Given the description of an element on the screen output the (x, y) to click on. 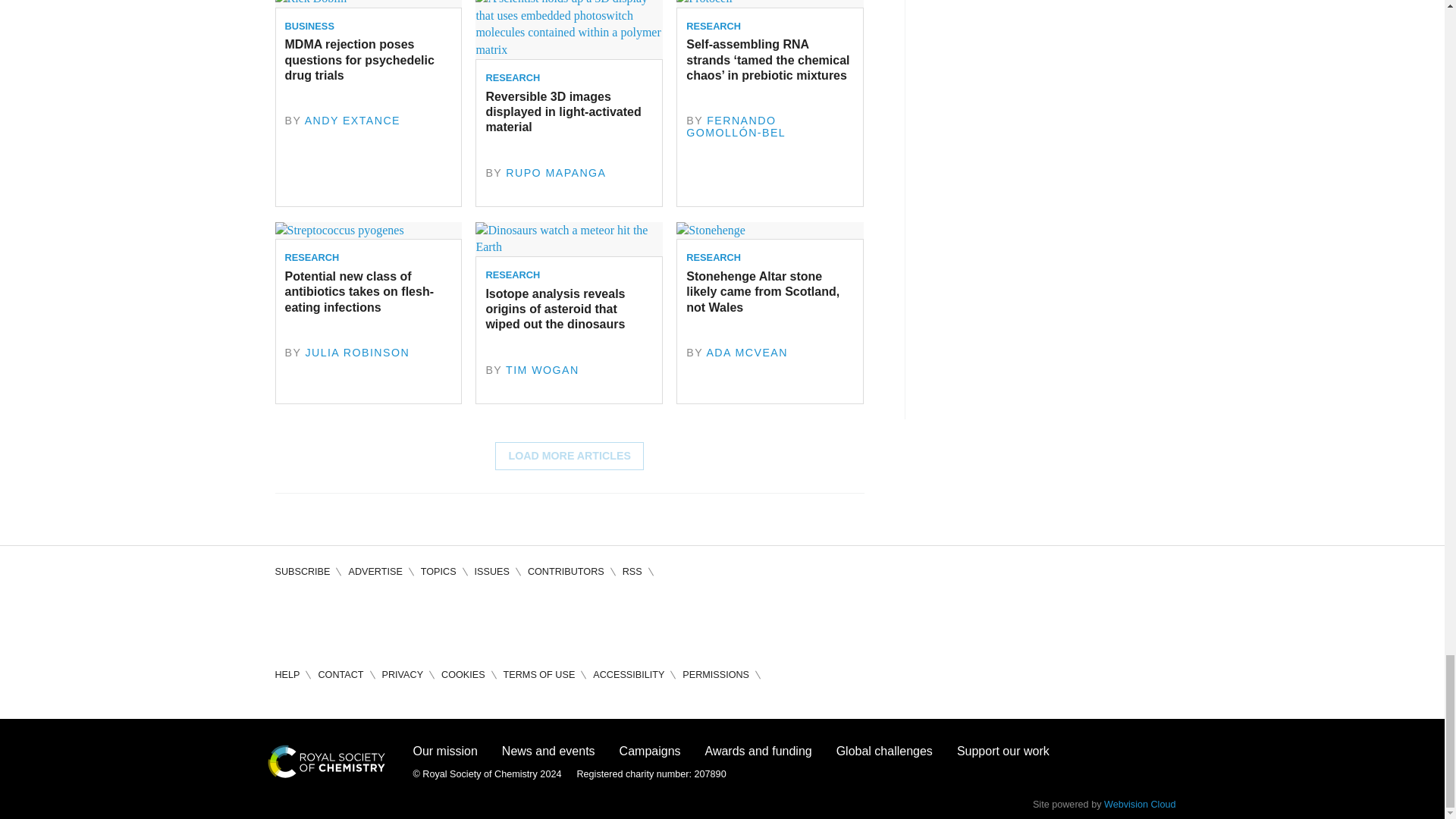
Connect on Linked in (373, 619)
Follow on Twitter (330, 619)
Follow on Facebook (287, 619)
Watch on Vimeo (416, 619)
